Given the description of an element on the screen output the (x, y) to click on. 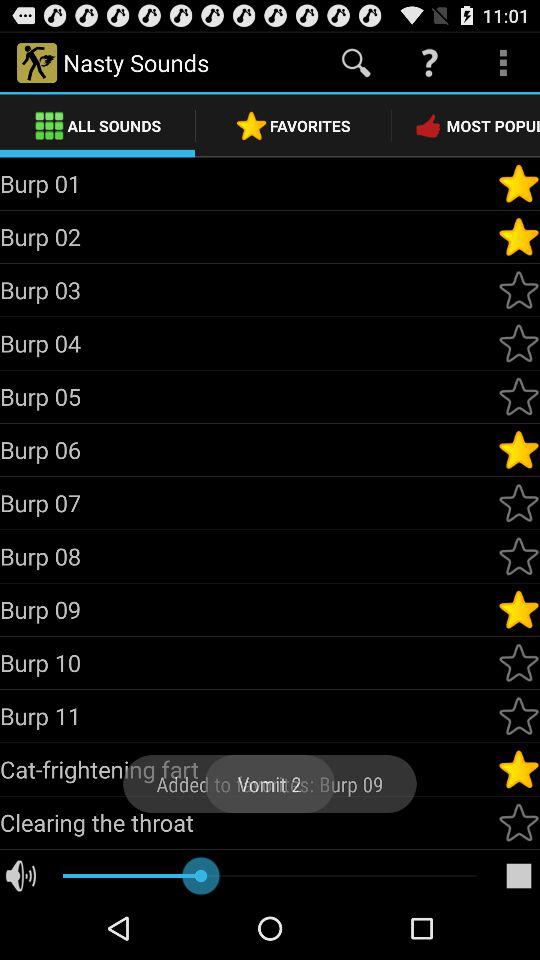
favorite sound (519, 290)
